Given the description of an element on the screen output the (x, y) to click on. 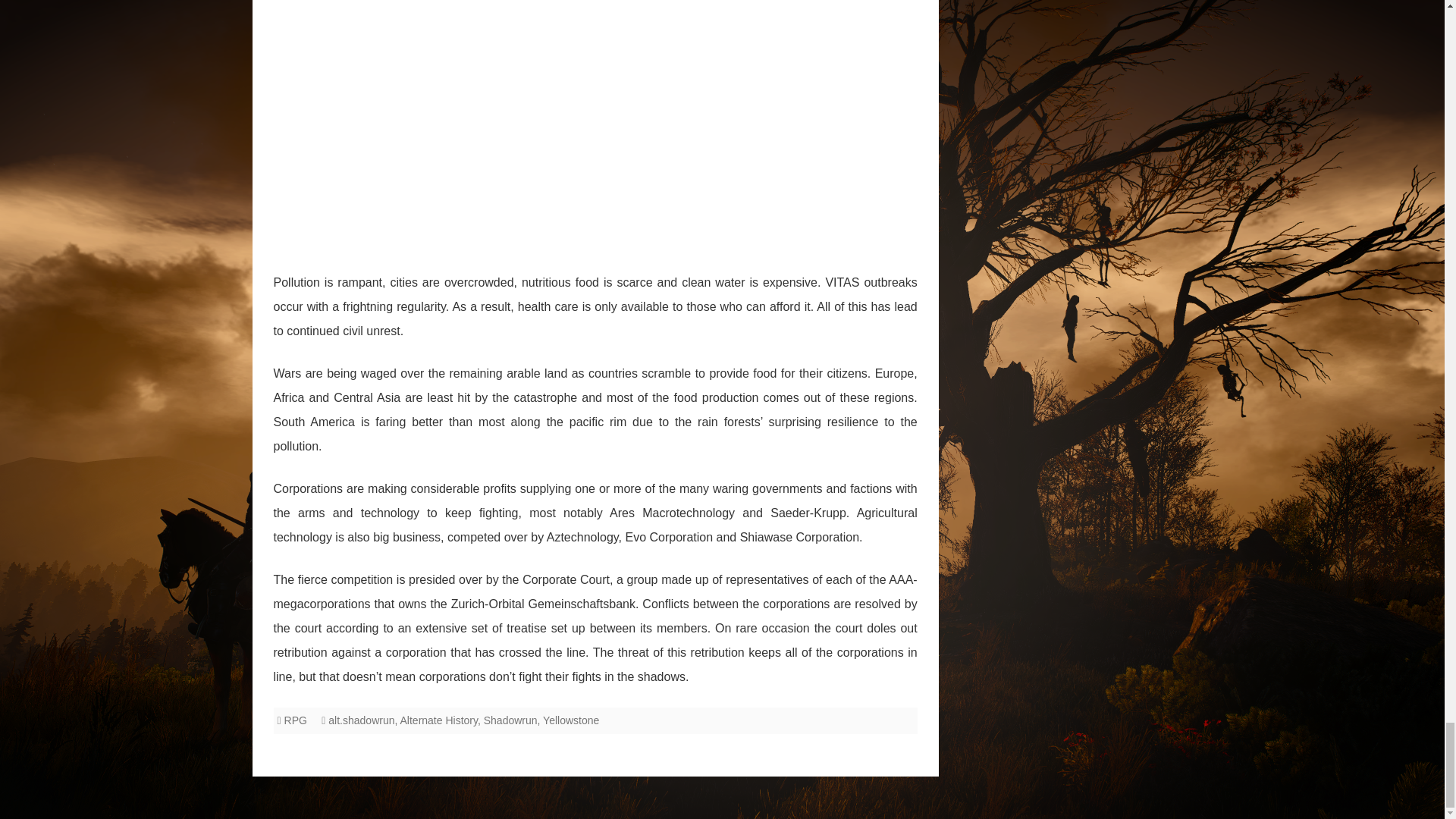
alt.shadowrun (361, 720)
Yellowstone (570, 720)
Shadowrun (510, 720)
Alternate History (438, 720)
RPG (295, 720)
